Given the description of an element on the screen output the (x, y) to click on. 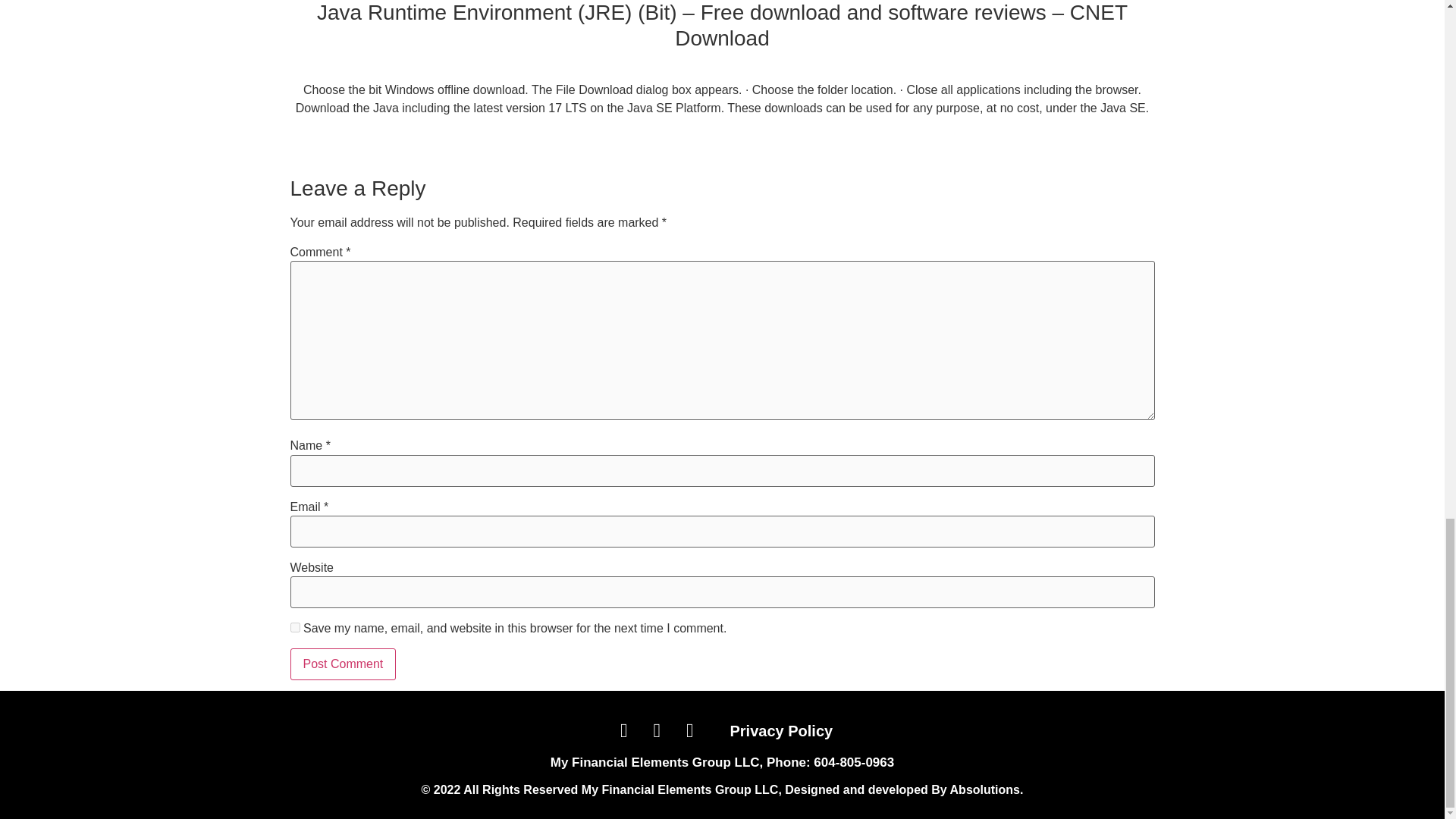
yes (294, 627)
Privacy Policy (780, 730)
Post Comment (342, 664)
Post Comment (342, 664)
